Given the description of an element on the screen output the (x, y) to click on. 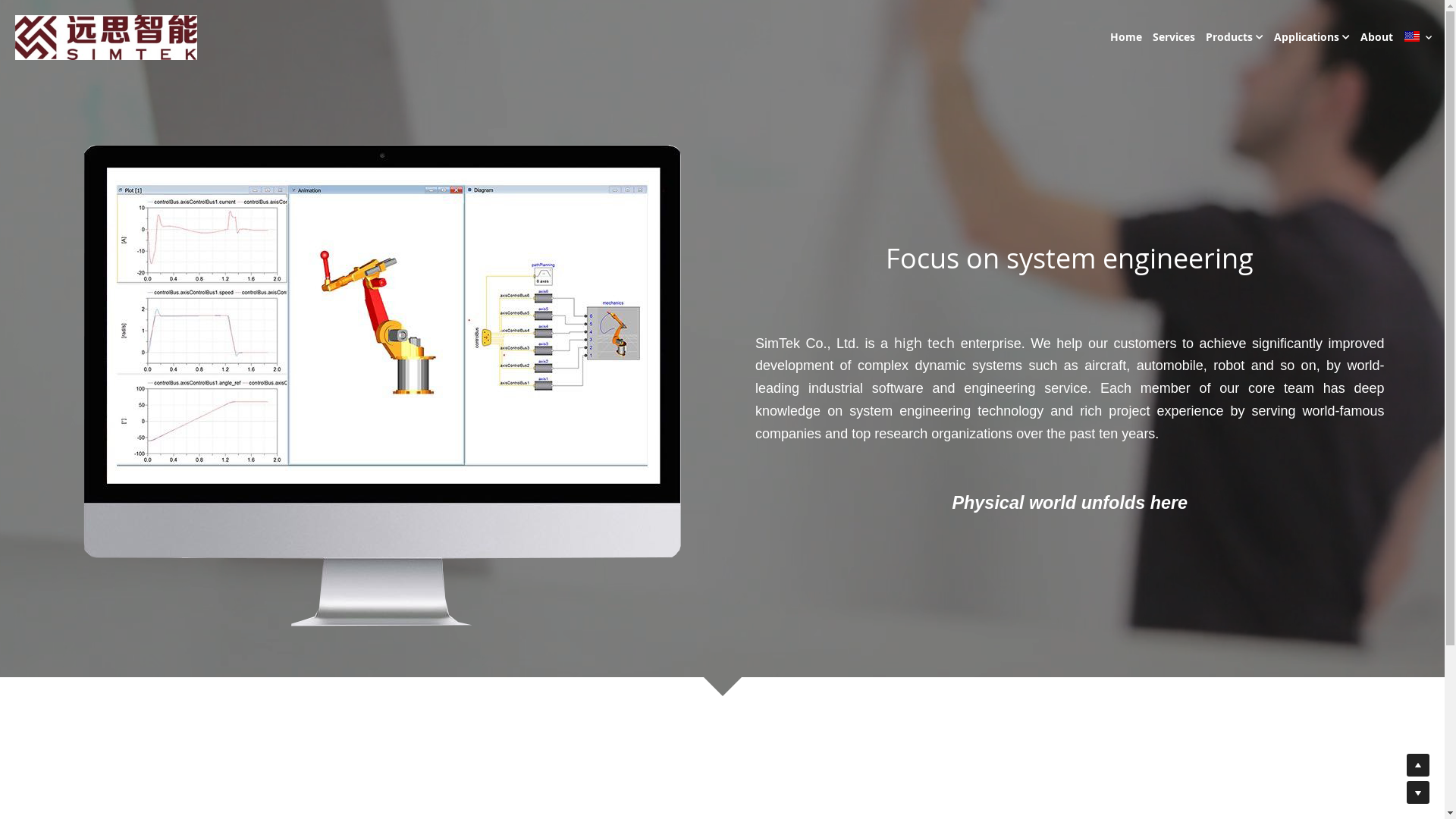
About Element type: text (1376, 37)
Services Element type: text (1173, 37)
Home Element type: text (1126, 37)
